Given the description of an element on the screen output the (x, y) to click on. 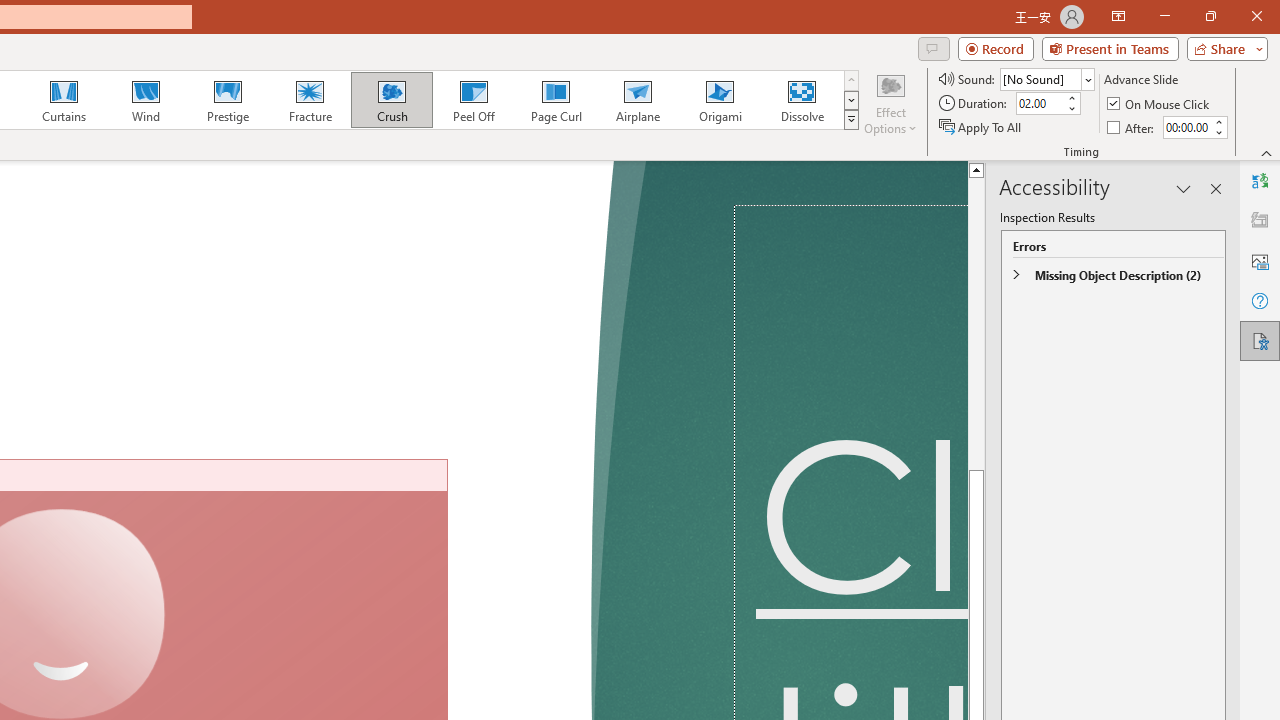
Dissolve (802, 100)
Page Curl (555, 100)
Peel Off (473, 100)
Fracture (309, 100)
Duration (1039, 103)
Airplane (637, 100)
Sound (1046, 78)
